Given the description of an element on the screen output the (x, y) to click on. 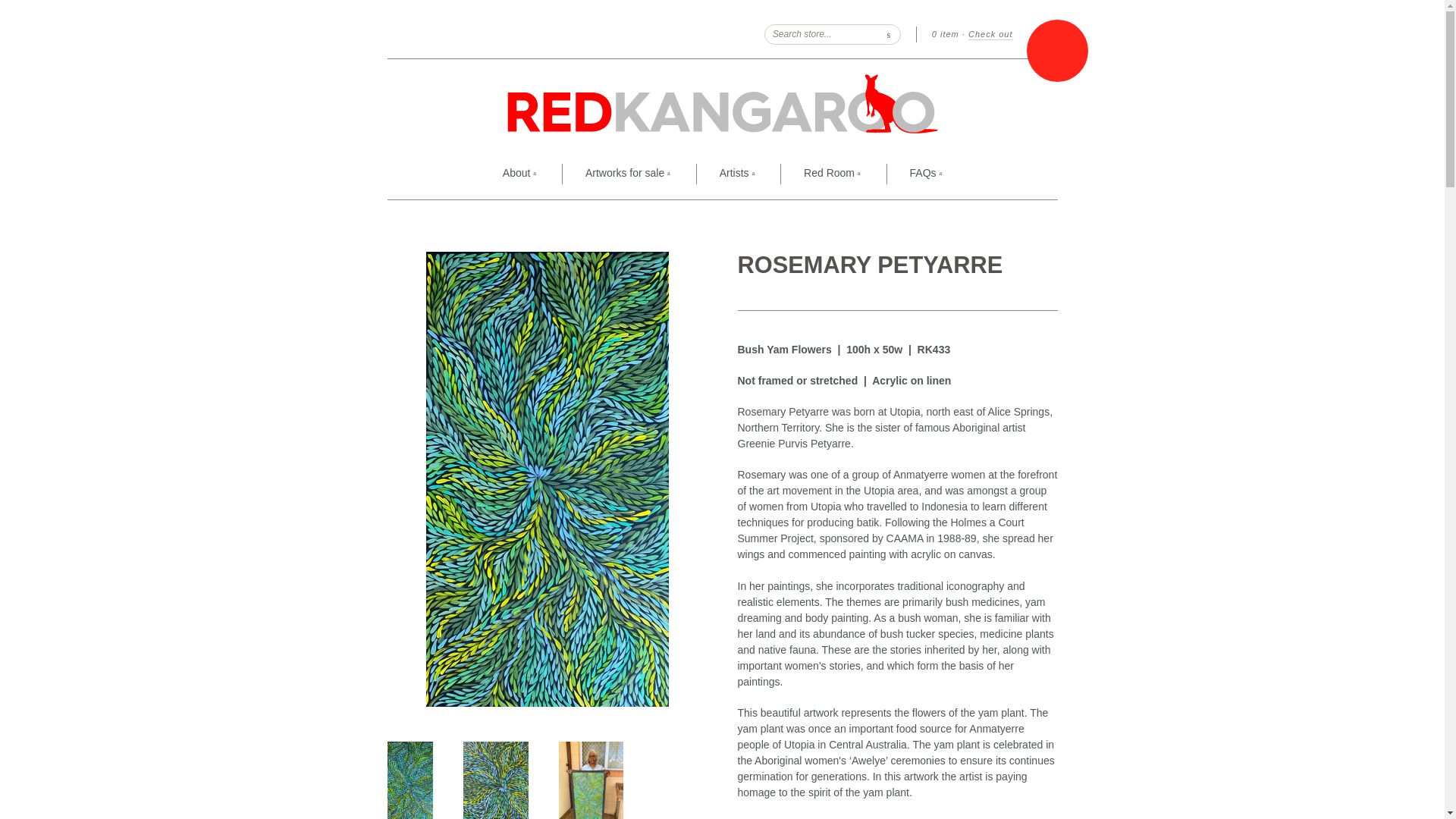
Check out (990, 34)
0 item (945, 34)
About (518, 173)
Artists (737, 173)
Search (888, 33)
Artworks for sale (627, 173)
